Given the description of an element on the screen output the (x, y) to click on. 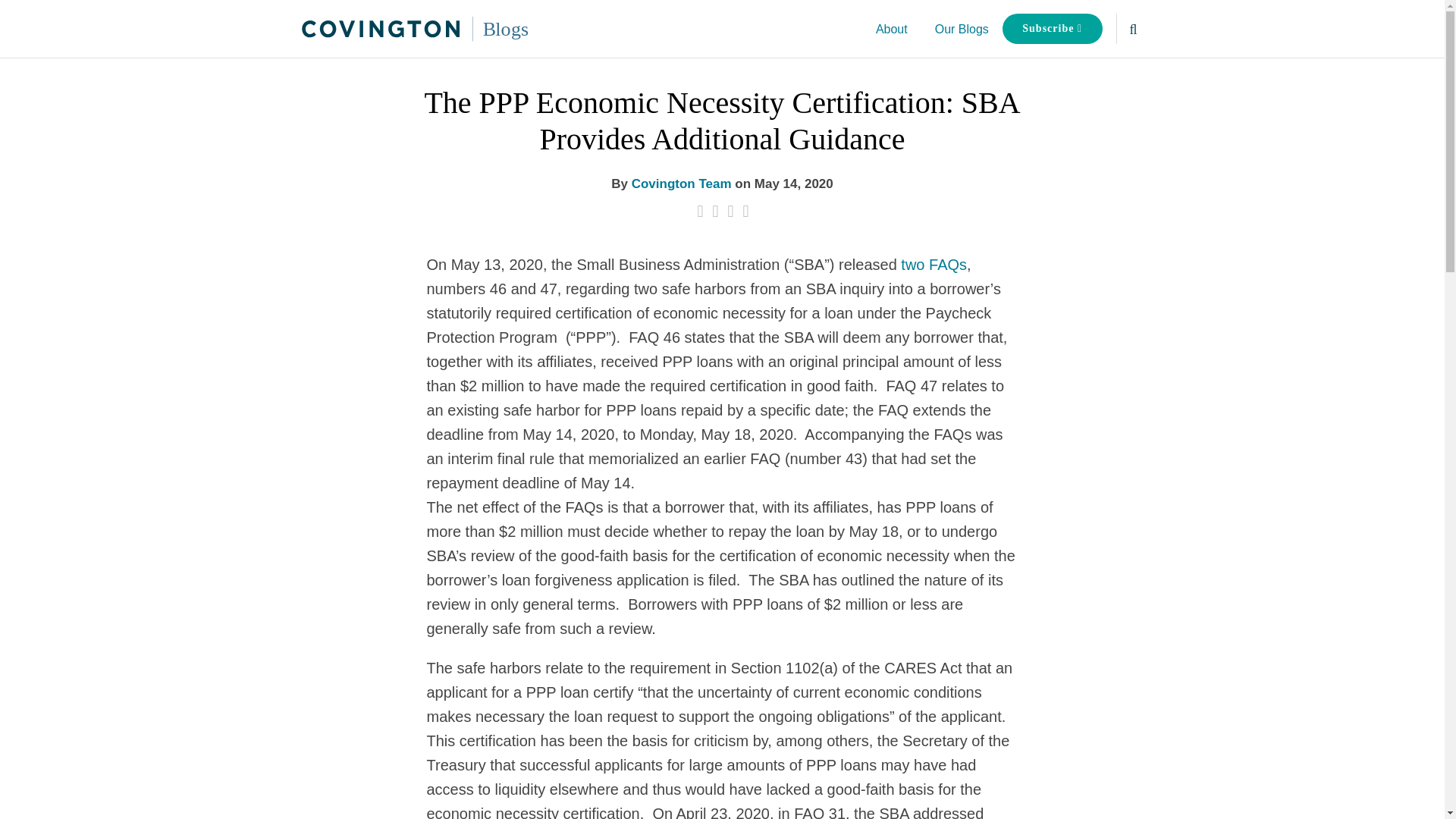
Tweet this post (714, 211)
Covington Team (681, 183)
About (891, 29)
Email this post (700, 211)
two FAQs (933, 264)
Share this post on LinkedIn (745, 211)
Subscribe (1052, 28)
Like this post (730, 211)
Our Blogs (961, 29)
